Given the description of an element on the screen output the (x, y) to click on. 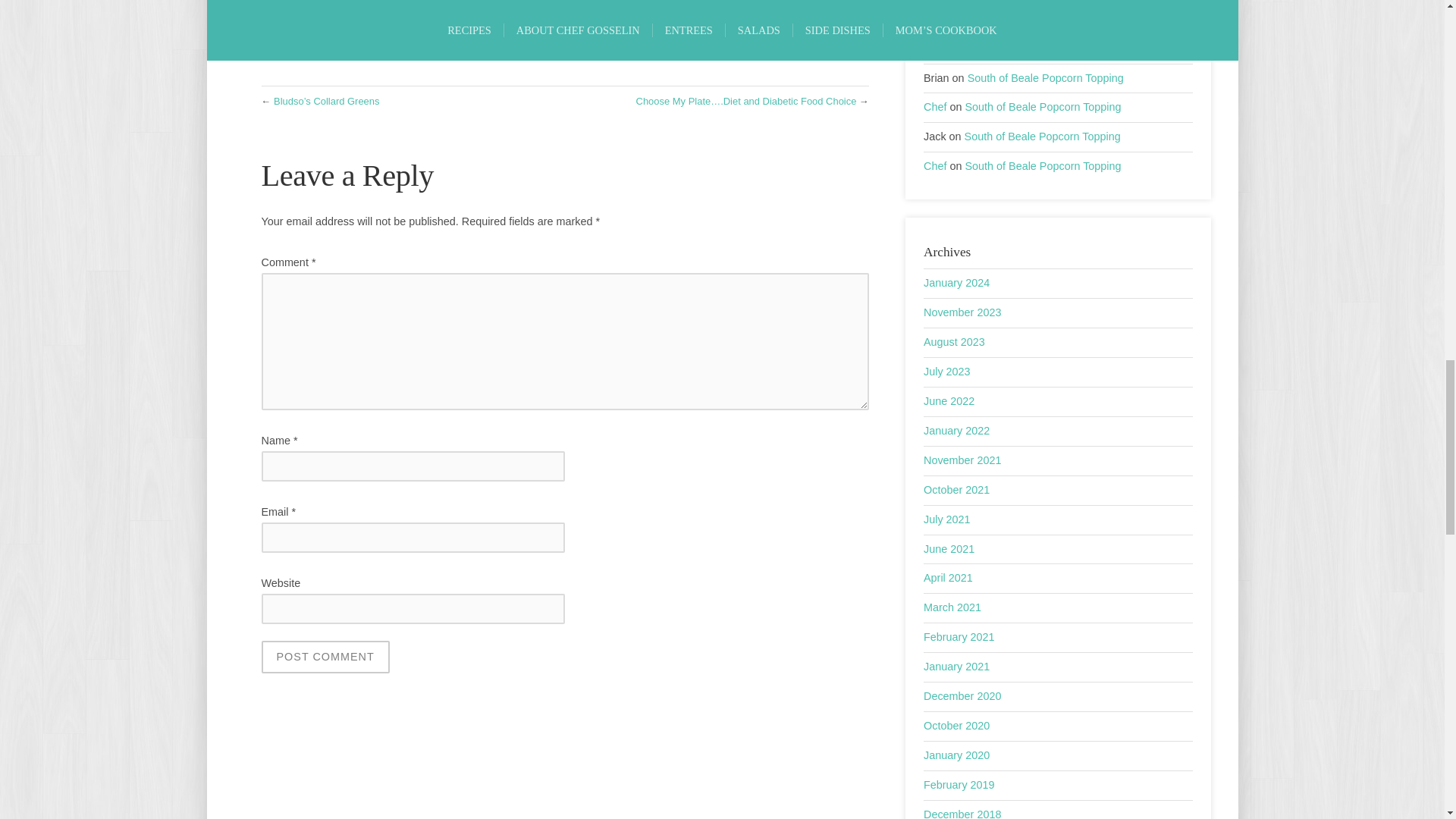
Post Comment (324, 656)
Post Comment (324, 656)
